Given the description of an element on the screen output the (x, y) to click on. 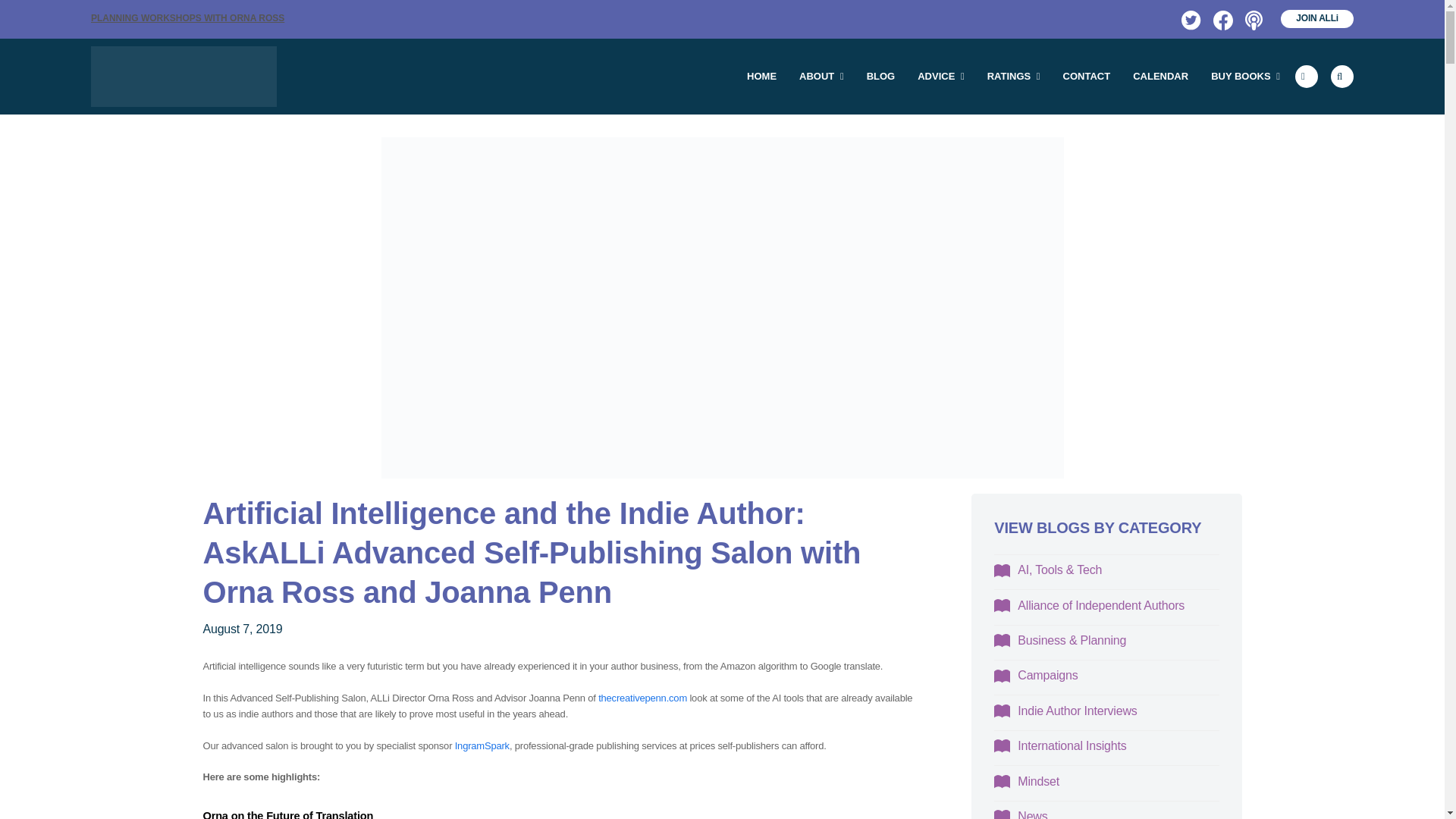
ABOUT (821, 76)
Twitter (1189, 18)
ADVICE (940, 76)
HOME (761, 76)
CALENDAR (1160, 76)
Facebook (1221, 18)
RATINGS (1013, 76)
Facebook (1221, 18)
Podcast (1253, 18)
Join ALLi (1317, 18)
Podcast (1253, 18)
BUY BOOKS (1245, 76)
BLOG (881, 76)
JOIN ALLi (1317, 18)
